Given the description of an element on the screen output the (x, y) to click on. 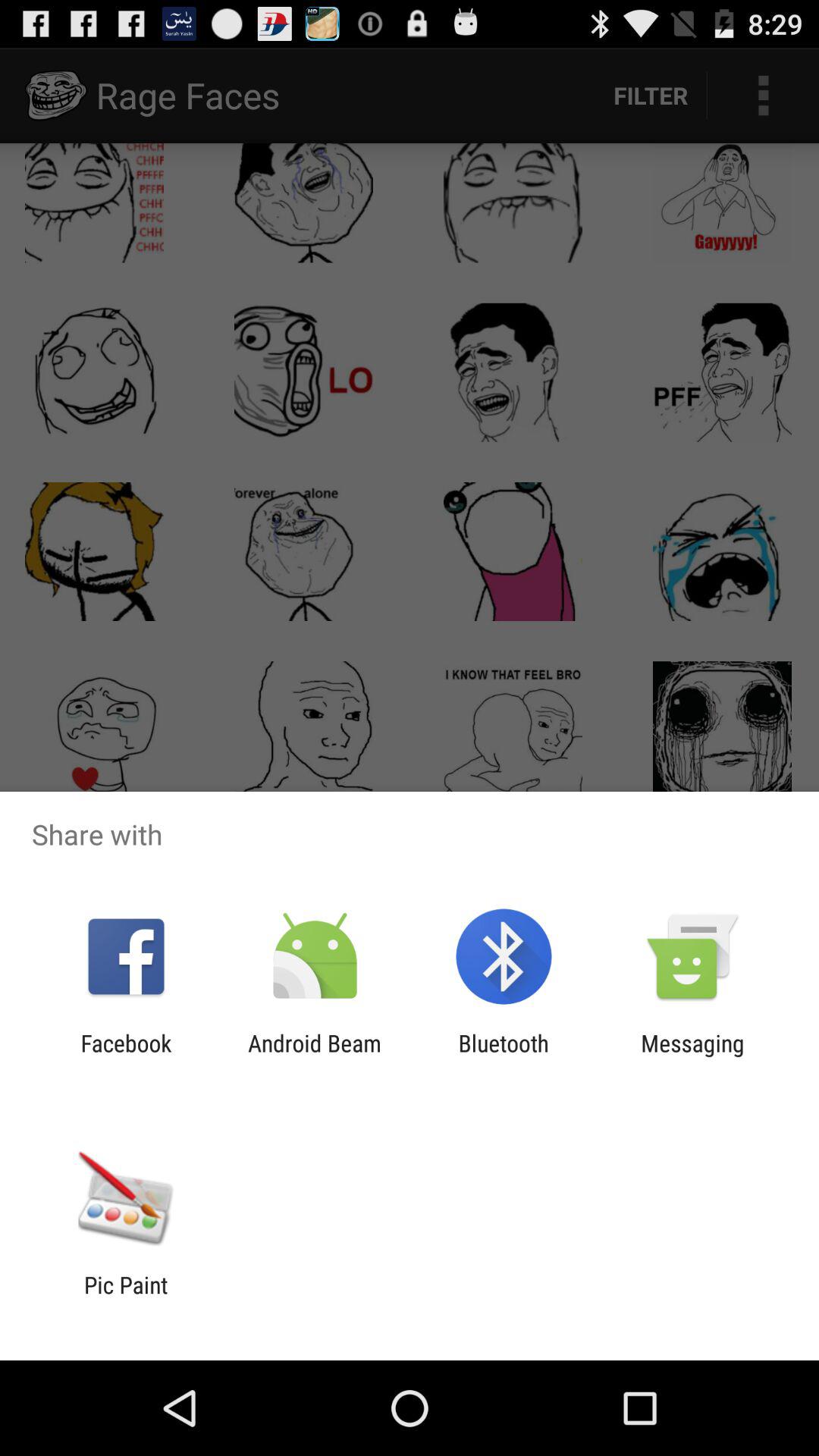
select bluetooth icon (503, 1056)
